Given the description of an element on the screen output the (x, y) to click on. 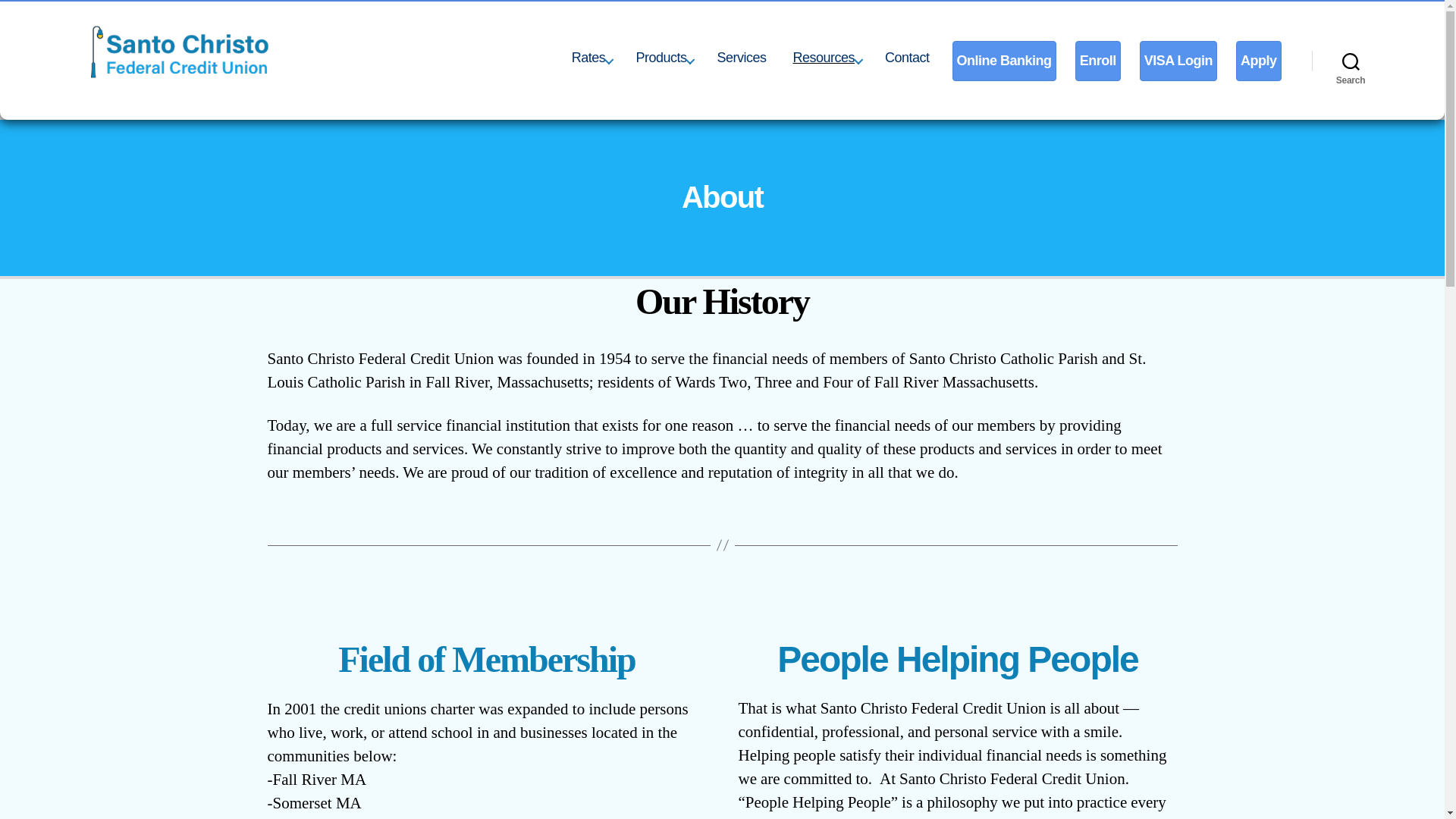
VISA Login (1178, 60)
Online Banking (1004, 60)
Rates (589, 58)
Products (662, 58)
Enroll (1098, 60)
Search (1350, 60)
Resources (825, 58)
Contact (906, 58)
Apply (1258, 60)
Services (741, 58)
